Given the description of an element on the screen output the (x, y) to click on. 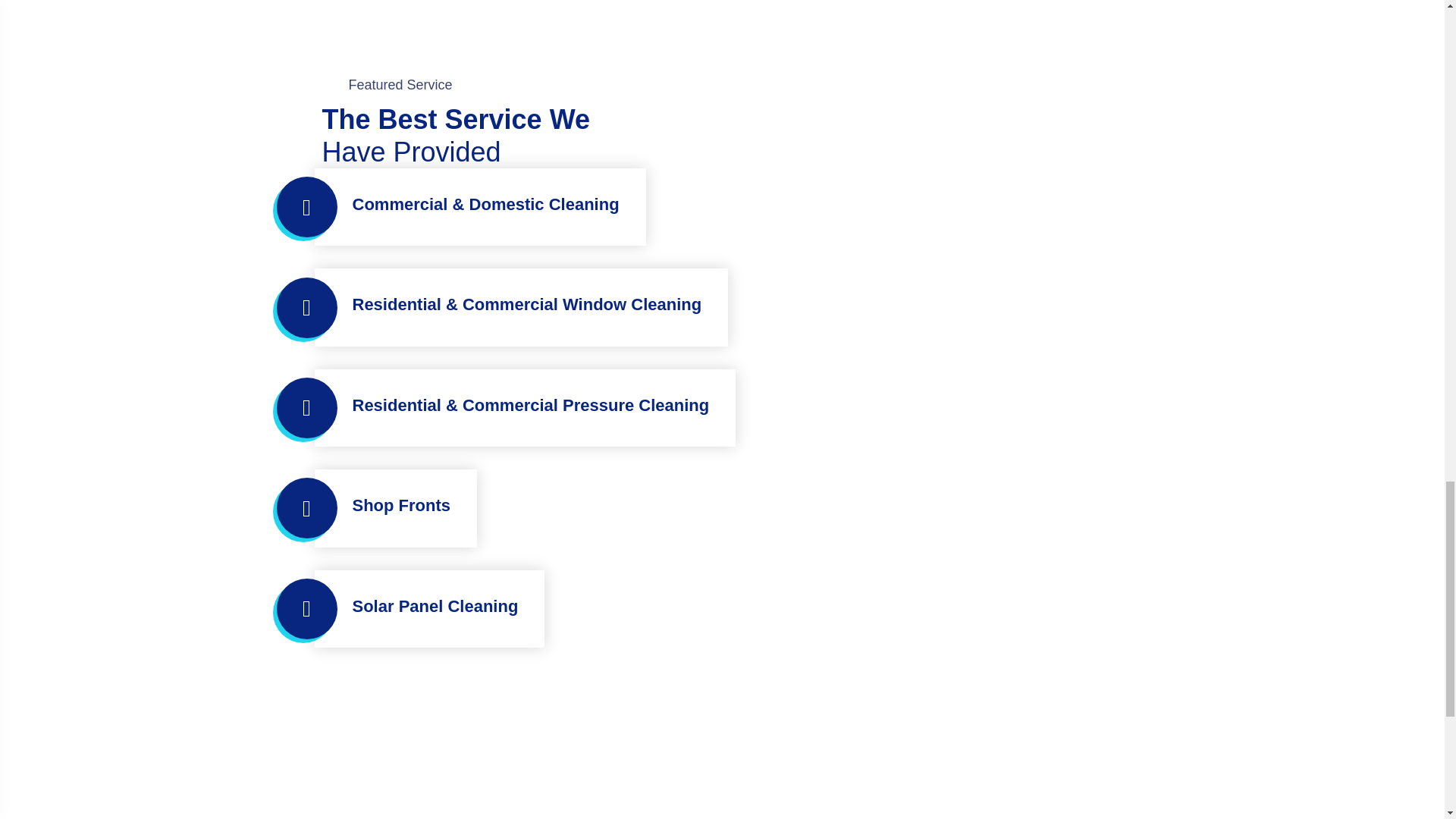
Shop Fronts (400, 505)
Solar Panel Cleaning (435, 605)
